Given the description of an element on the screen output the (x, y) to click on. 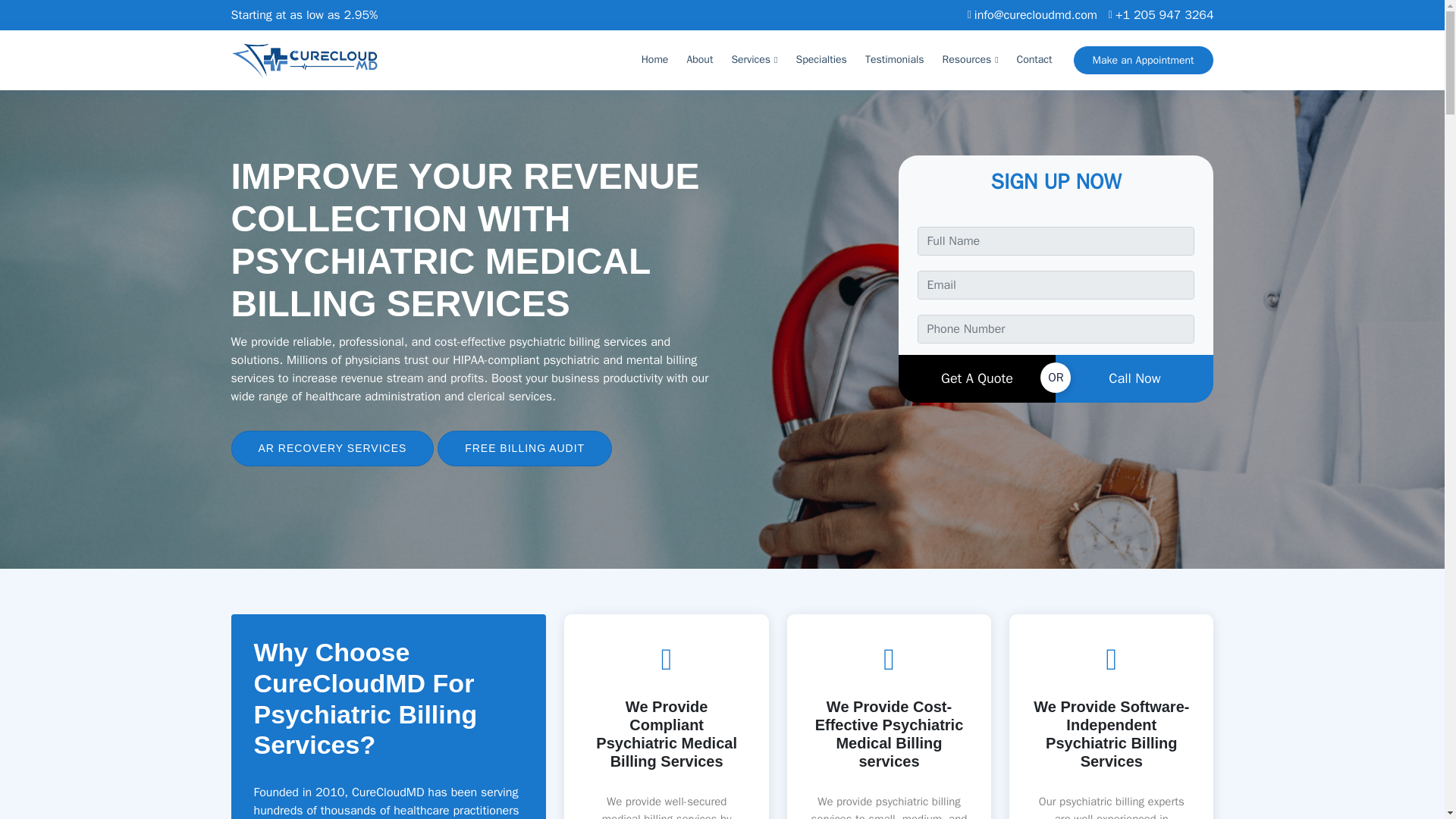
Testimonials (894, 59)
About (699, 59)
Services (753, 59)
Home (654, 59)
Home (654, 59)
Get A Quote (976, 378)
About (699, 59)
Testimonials (894, 59)
Contact (1034, 59)
Contact (1034, 59)
Make an Appointment (1143, 60)
Resources (970, 59)
Call Now (1133, 378)
Specialties (821, 59)
Make an Appointment (1143, 60)
